Given the description of an element on the screen output the (x, y) to click on. 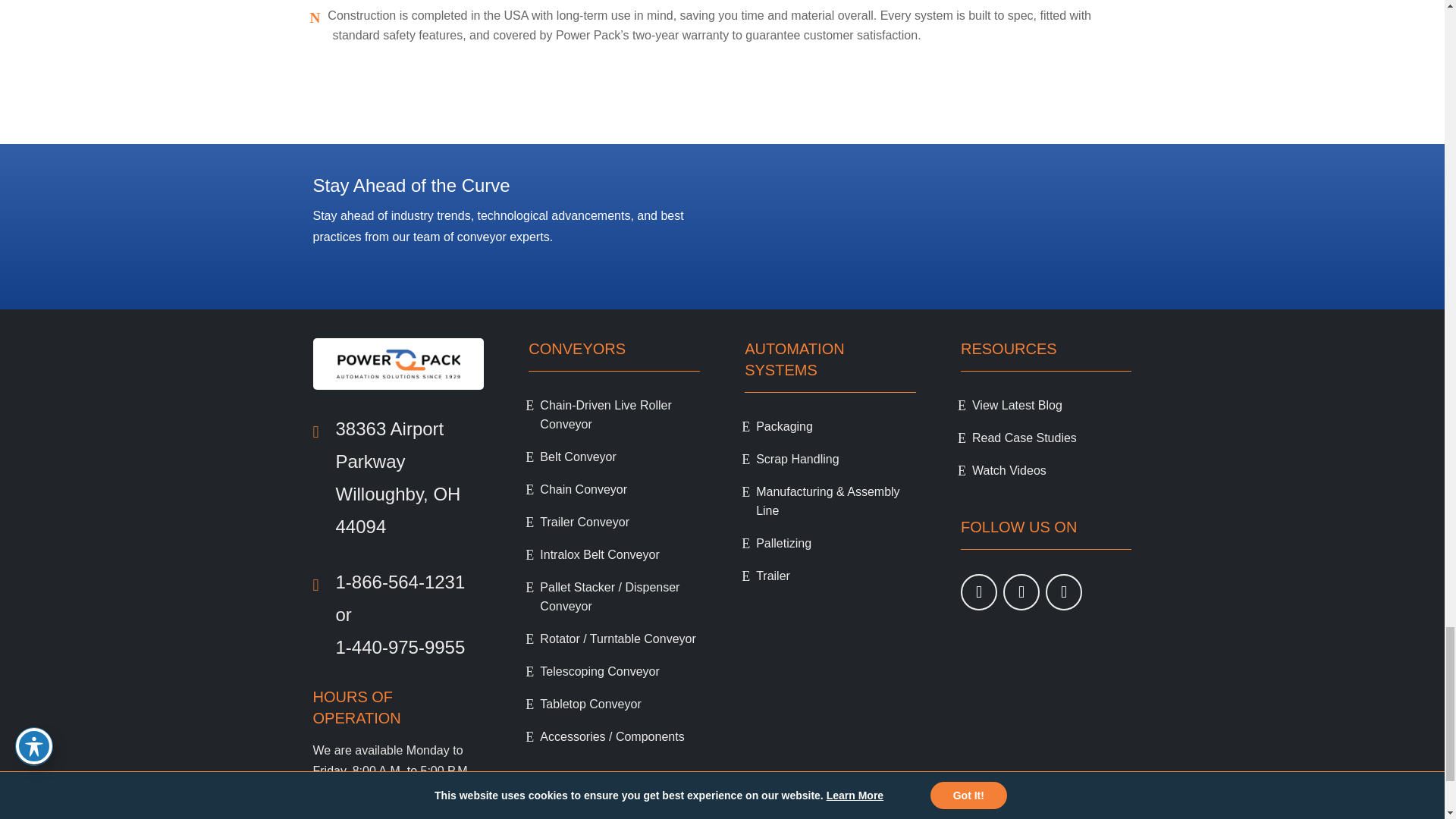
Follow on Youtube (978, 592)
Follow on Facebook (1021, 592)
Follow on LinkedIn (1063, 592)
Form 0 (937, 230)
